Given the description of an element on the screen output the (x, y) to click on. 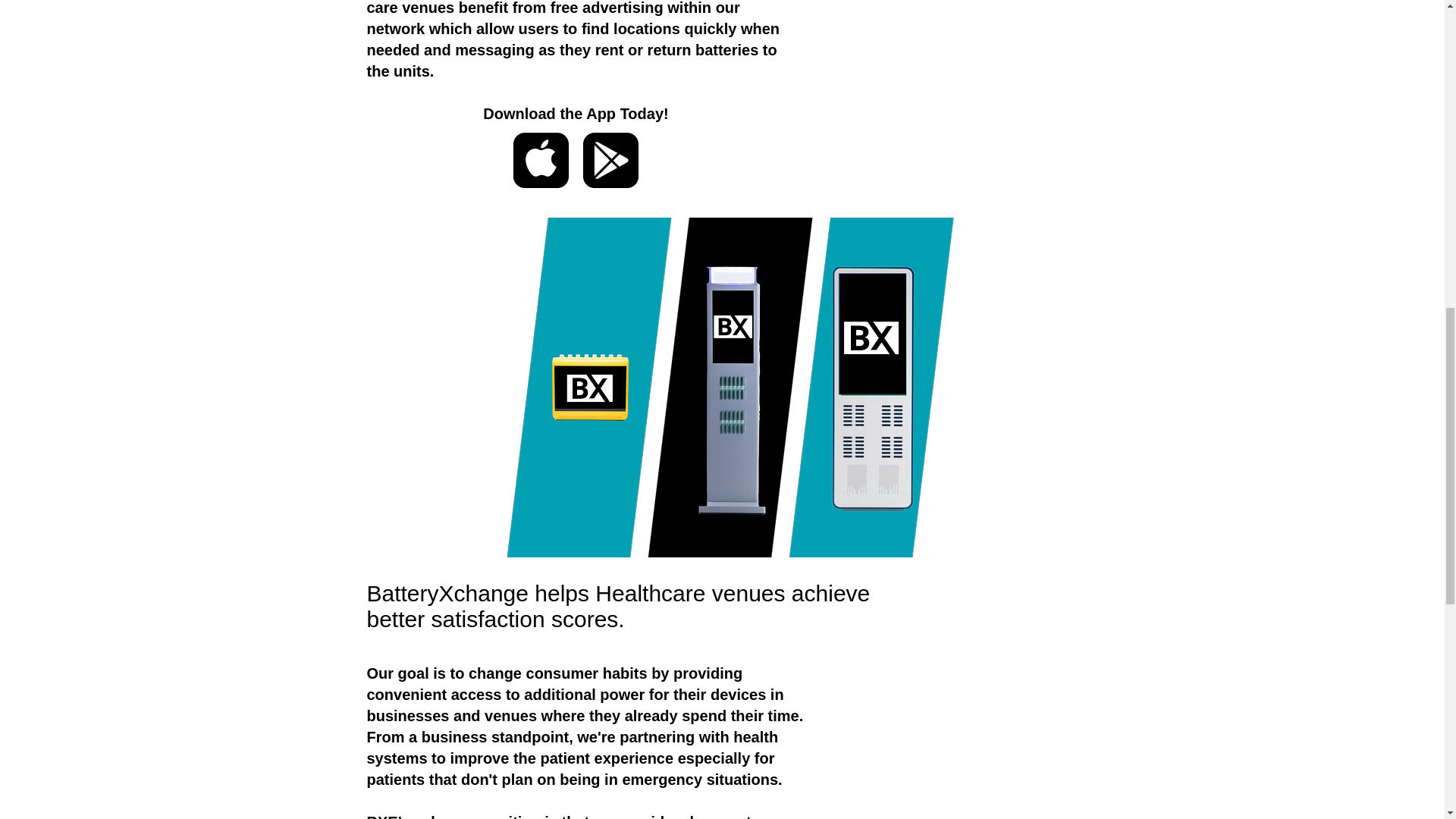
Download the app today (539, 160)
Download App today (609, 160)
